Given the description of an element on the screen output the (x, y) to click on. 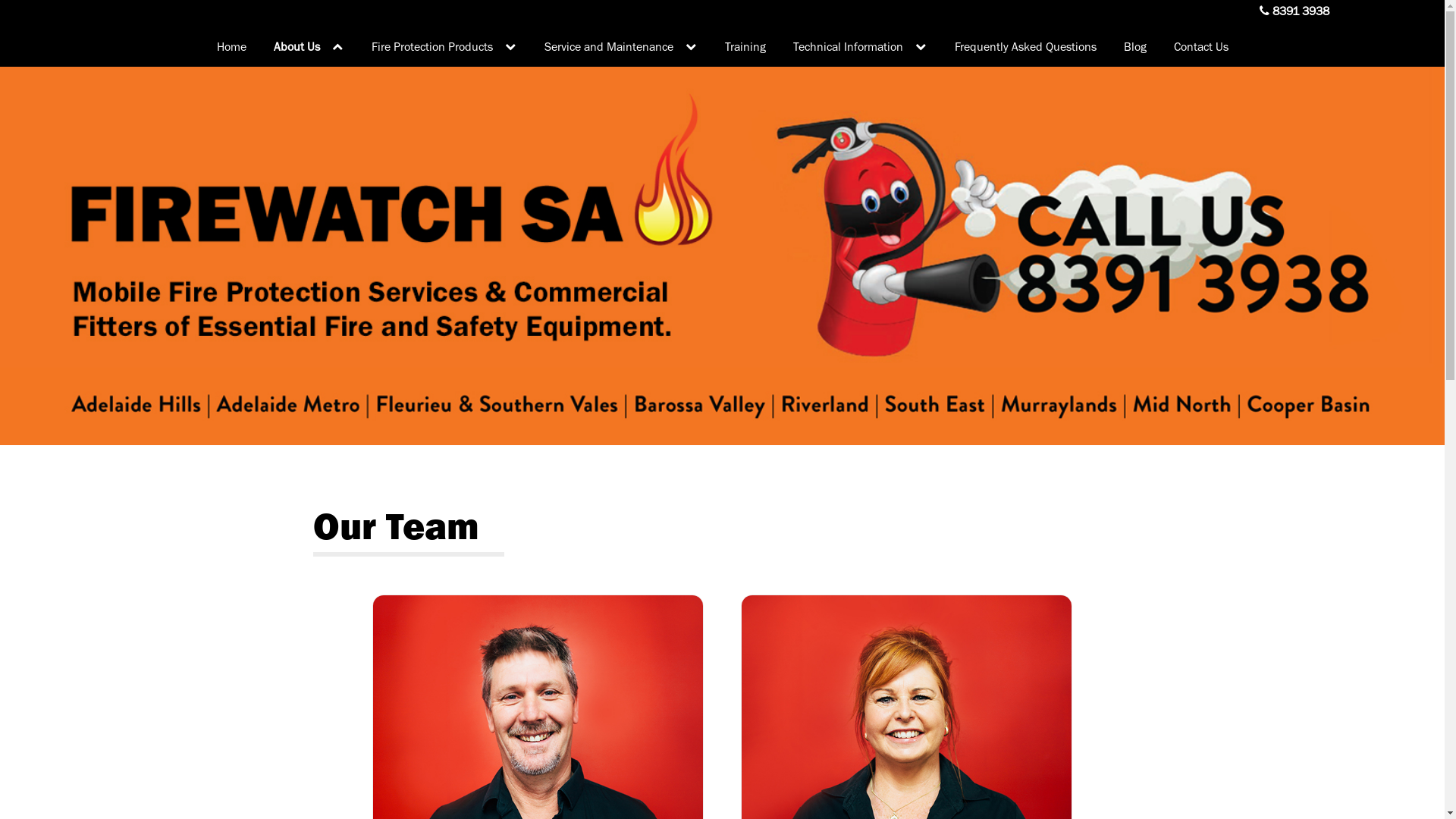
About Us Element type: text (307, 47)
Home Element type: text (231, 47)
expand child menu Element type: text (336, 46)
8391 3938 Element type: text (1306, 11)
Frequently Asked Questions Element type: text (1024, 47)
Fire Protection Products Element type: text (444, 47)
Blog Element type: text (1134, 47)
expand child menu Element type: text (689, 46)
Contact Us Element type: text (1200, 47)
Technical Information Element type: text (860, 47)
expand child menu Element type: text (508, 46)
Training Element type: text (745, 47)
Service and Maintenance Element type: text (620, 47)
expand child menu Element type: text (920, 46)
